Given the description of an element on the screen output the (x, y) to click on. 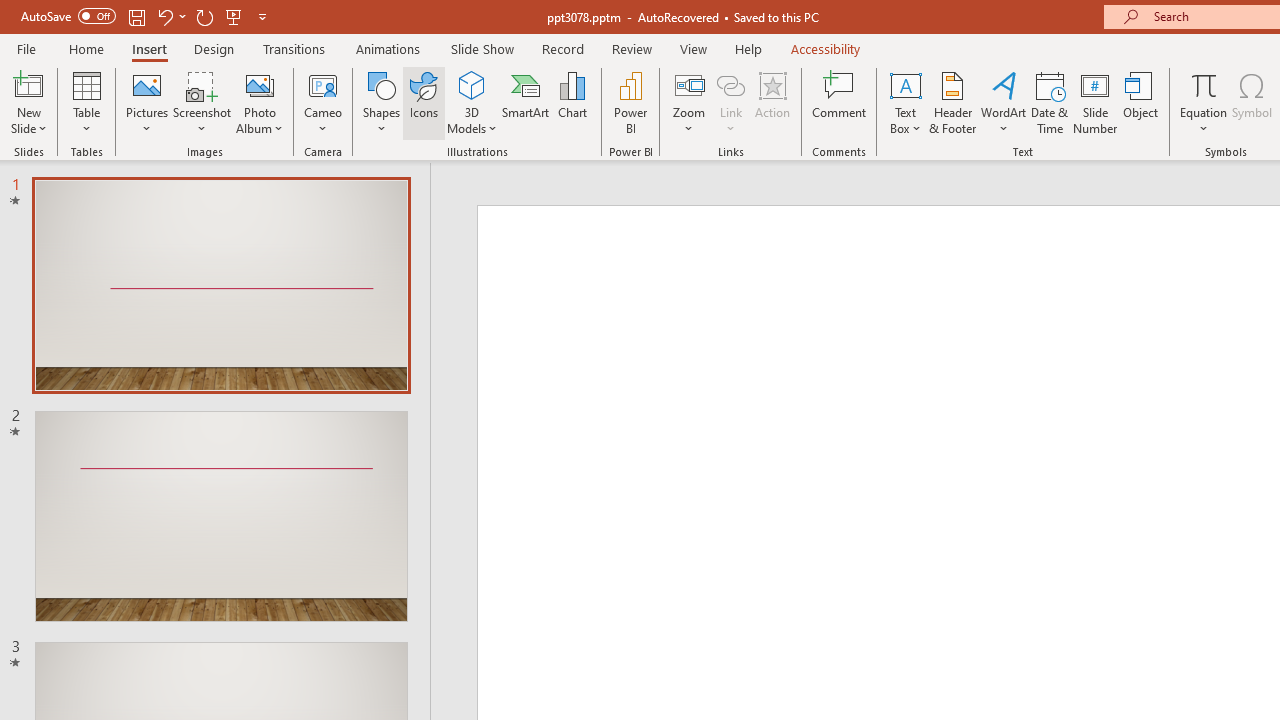
Icons (424, 102)
Photo Album... (259, 102)
Symbol... (1252, 102)
Equation (1203, 102)
